Given the description of an element on the screen output the (x, y) to click on. 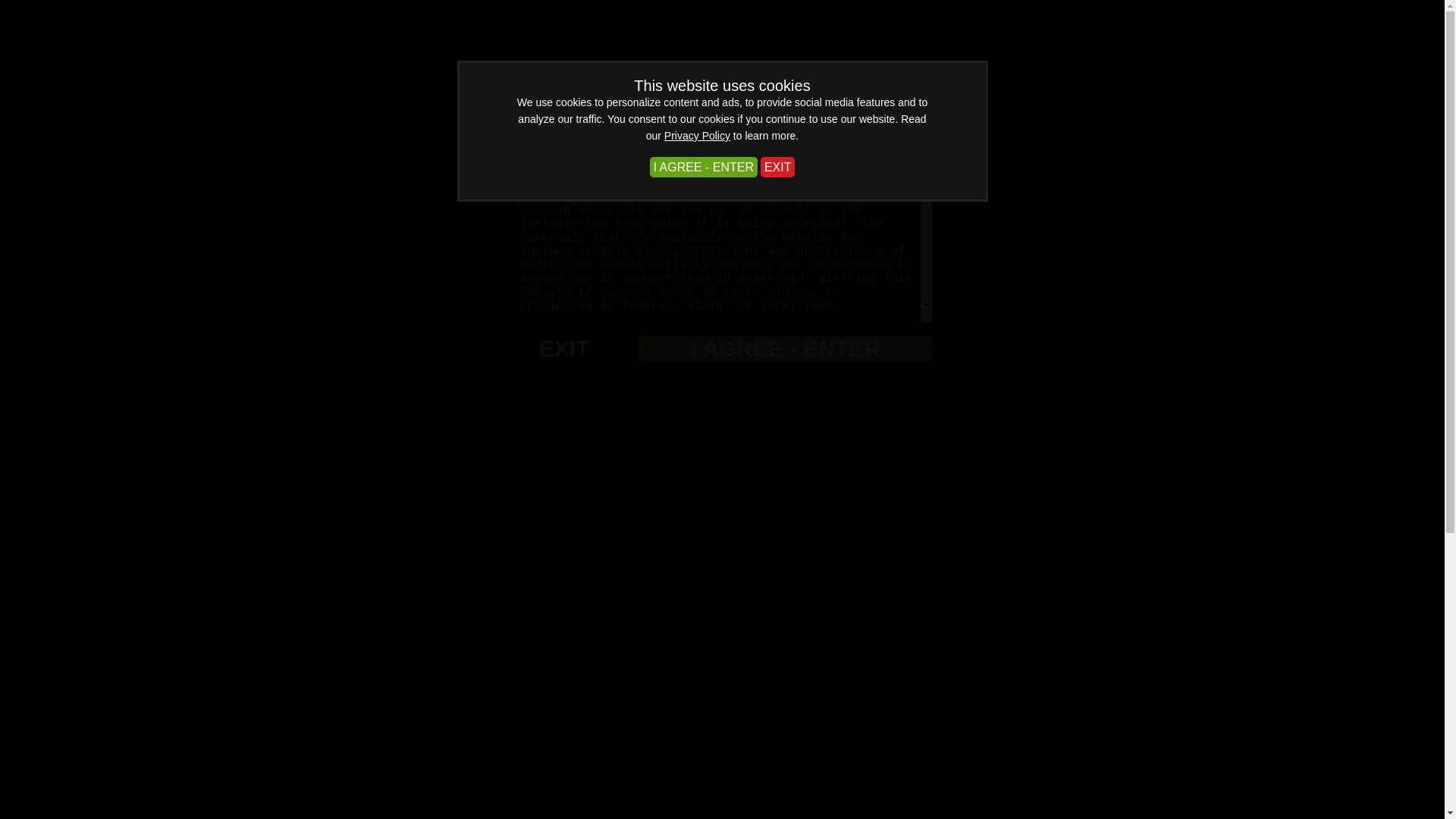
I AGREE - ENTER (703, 167)
Sophie B (163, 660)
Liz Rainbow (378, 528)
See More Models (1265, 709)
Privacy Policy (696, 135)
Customs Available (975, 510)
Custom Shoots (509, 423)
Private Customs shoots are available to non-members (904, 546)
Brook Logan (387, 564)
I AGREE - ENTER (785, 348)
